Given the description of an element on the screen output the (x, y) to click on. 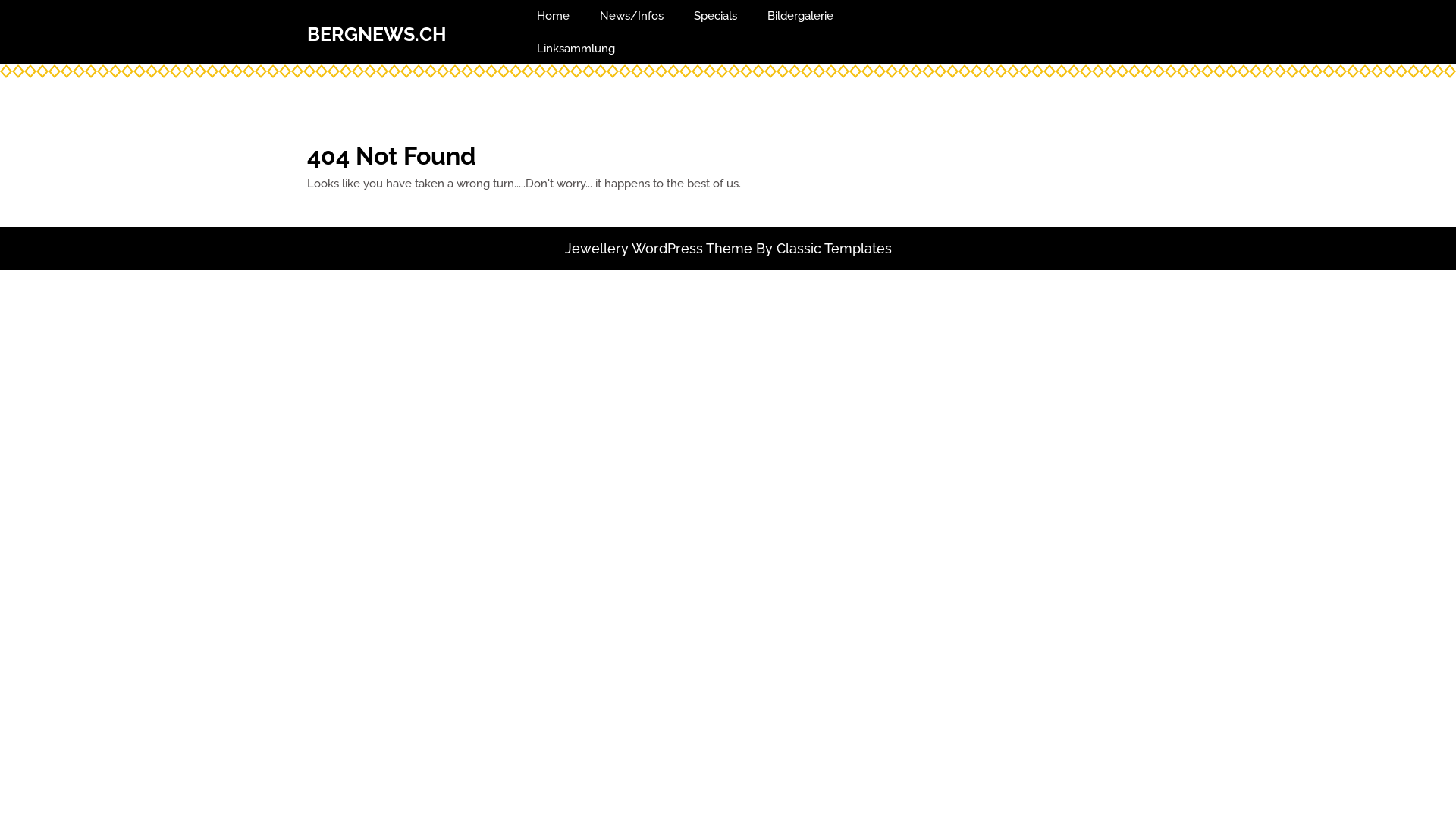
Linksammlung Element type: text (575, 47)
Bildergalerie Element type: text (800, 16)
BERGNEWS.CH Element type: text (376, 33)
Jewellery WordPress Theme Element type: text (657, 248)
Specials Element type: text (715, 16)
Home Element type: text (553, 16)
News/Infos Element type: text (631, 16)
